Given the description of an element on the screen output the (x, y) to click on. 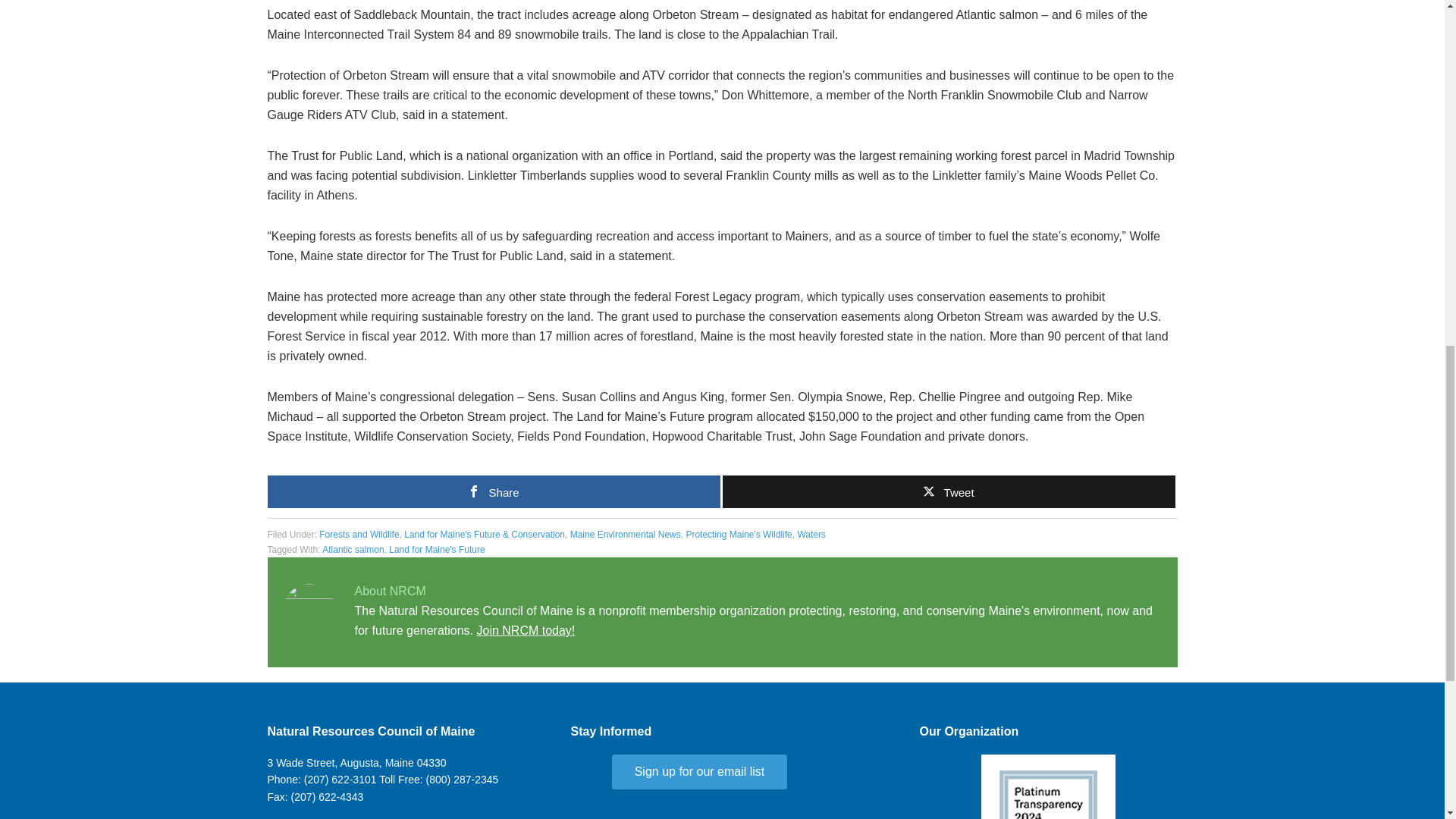
Contact Us (355, 762)
